Given the description of an element on the screen output the (x, y) to click on. 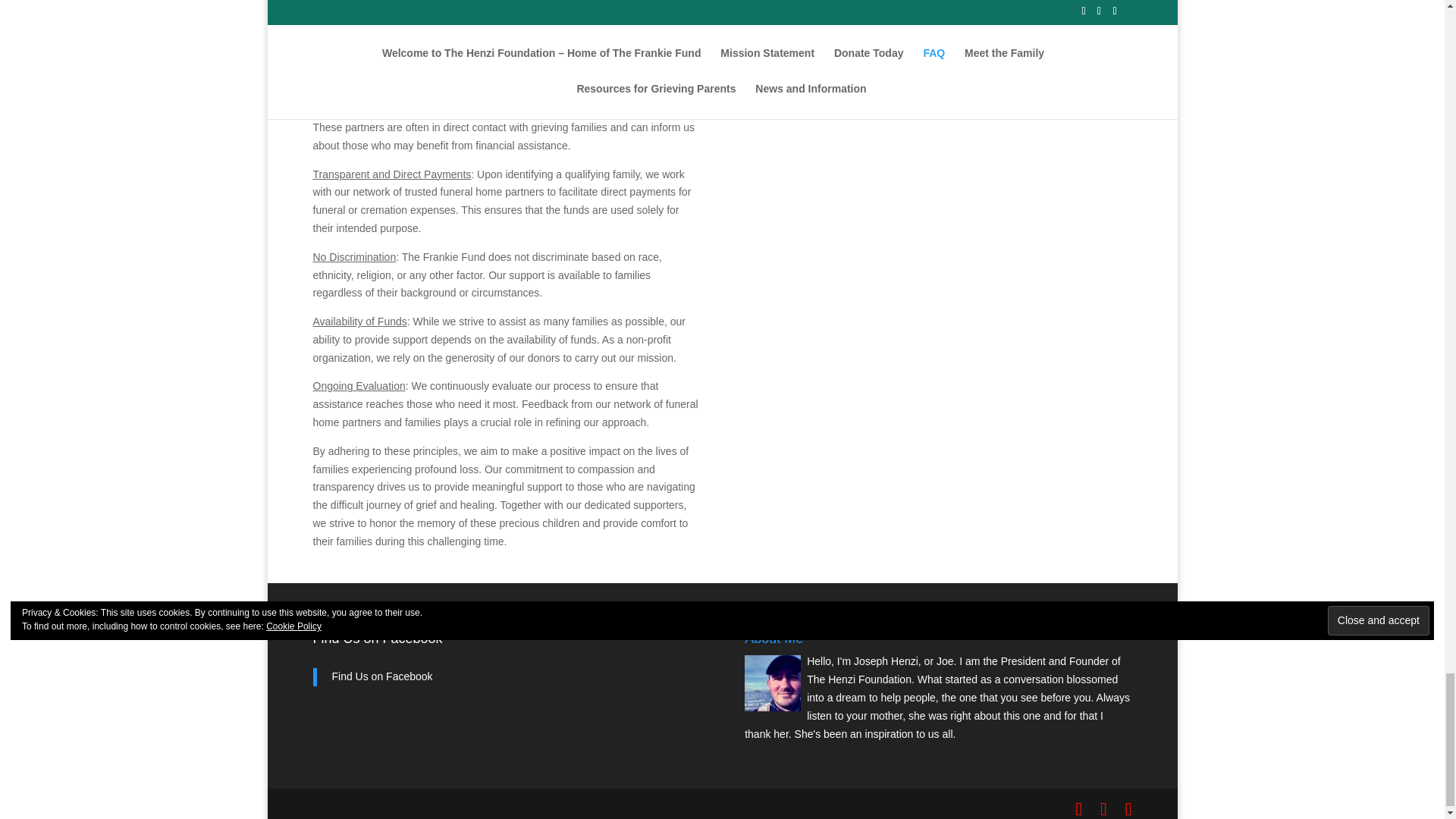
Find Us on Facebook (377, 638)
Find Us on Facebook (381, 676)
